Given the description of an element on the screen output the (x, y) to click on. 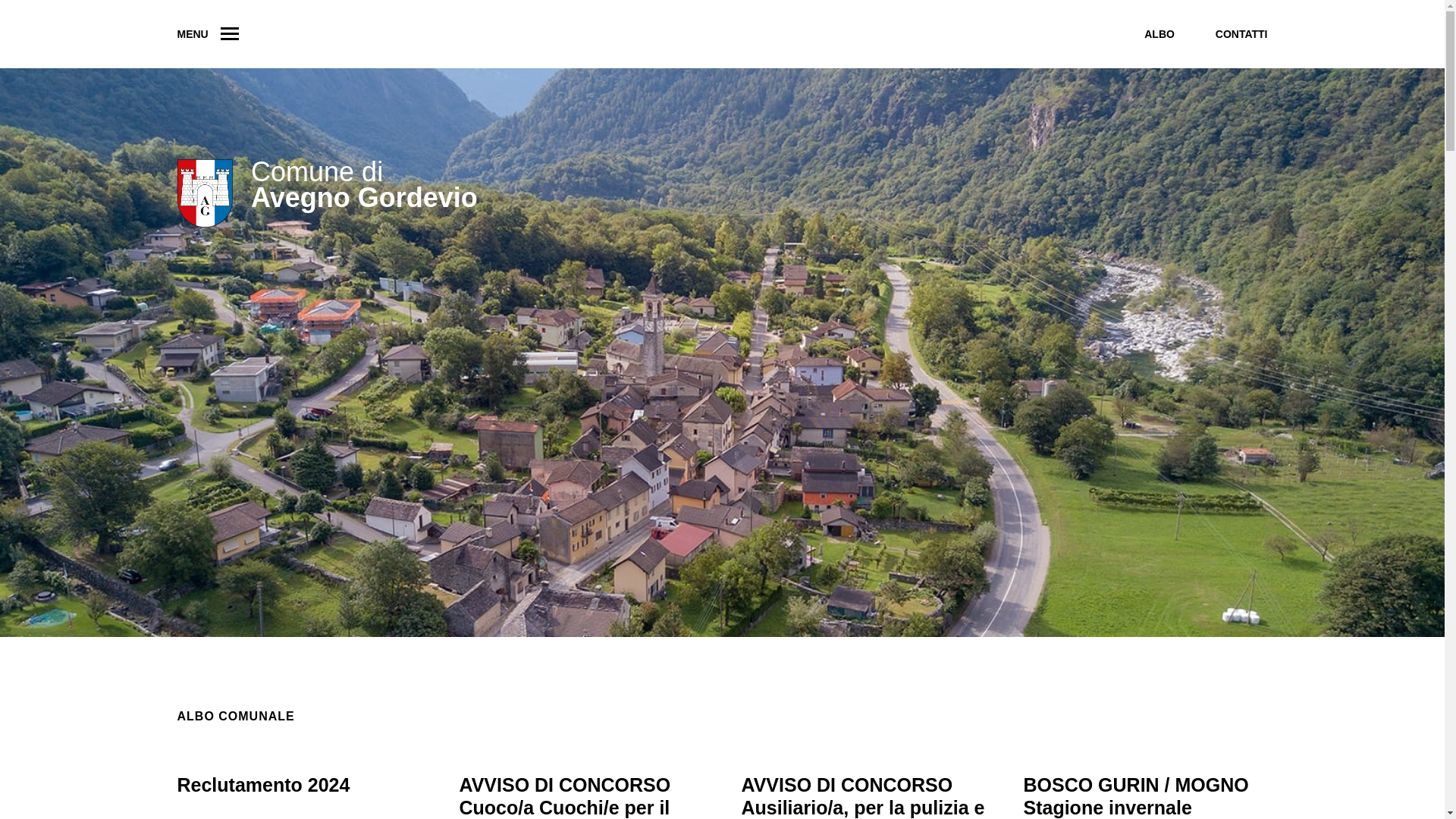
CONTATTI Element type: text (1241, 34)
ALBO Element type: text (1159, 34)
Reclutamento 2024 Element type: text (263, 784)
Comune di
Avegno
Gordevio Element type: text (327, 202)
